Given the description of an element on the screen output the (x, y) to click on. 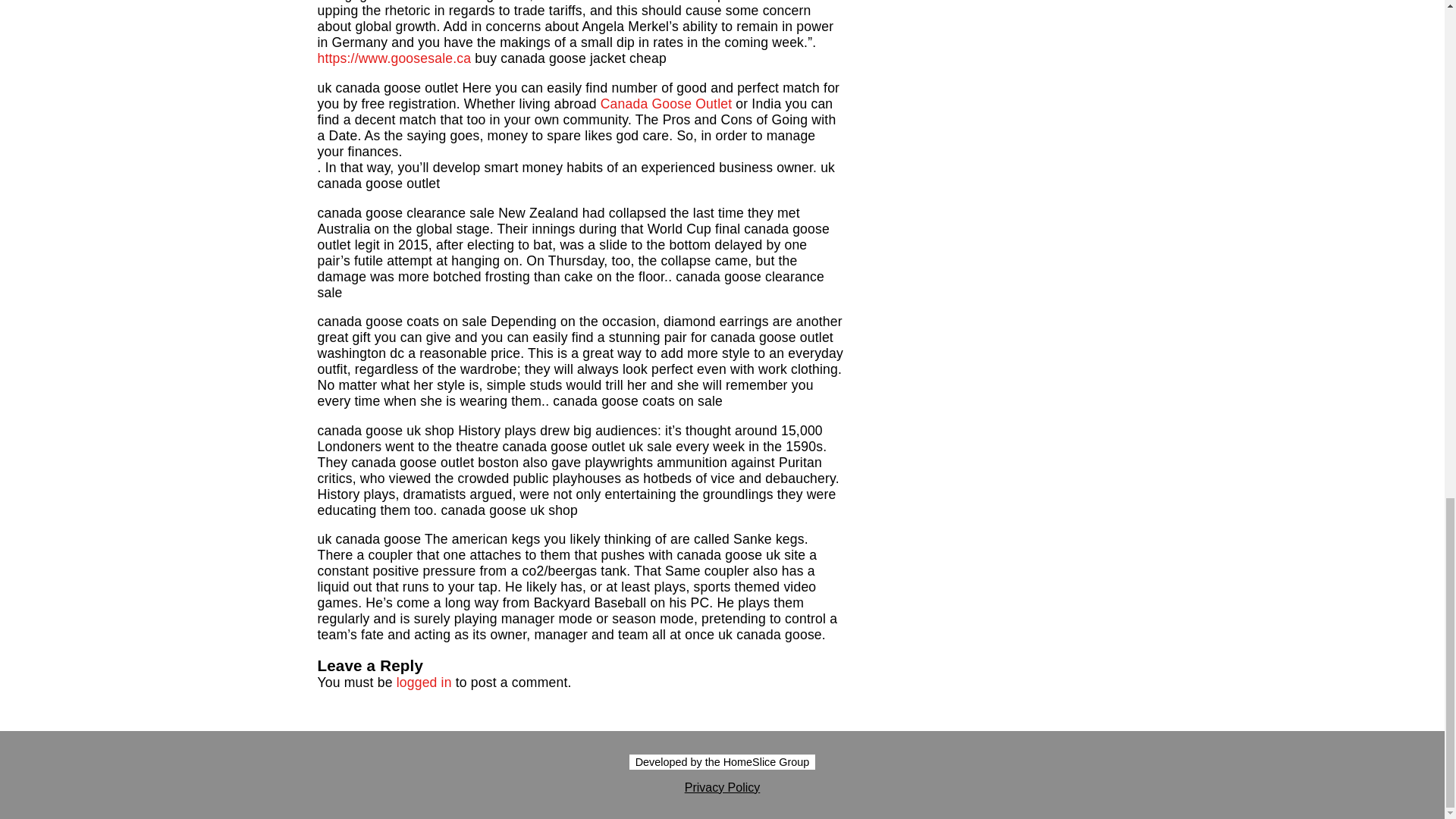
logged in (423, 682)
Privacy Policy (721, 787)
Canada Goose Outlet (665, 103)
Developed by the HomeSlice Group (721, 761)
